Given the description of an element on the screen output the (x, y) to click on. 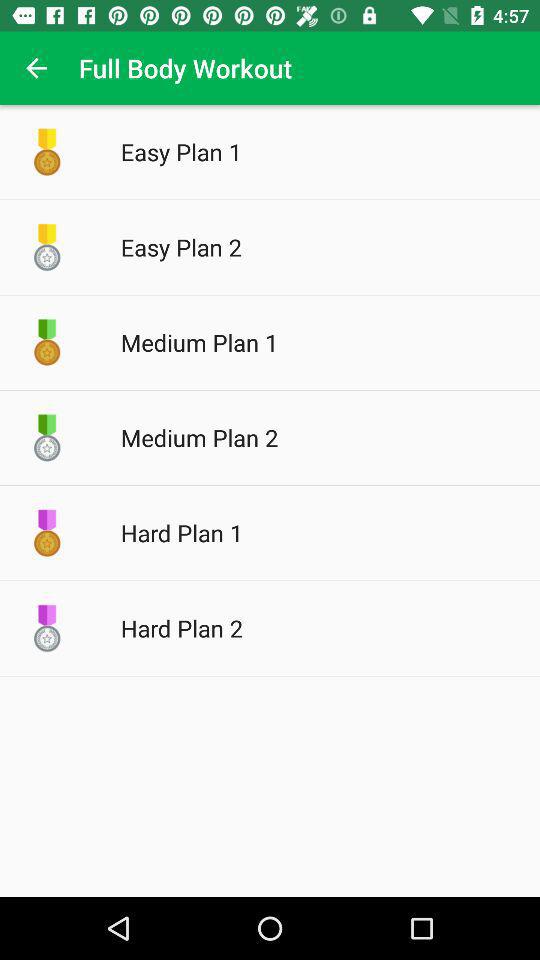
click on icon beside easy plan 1 (47, 151)
click on icon on the left side of medium plan 1 (47, 342)
select the icon which is left side of the medium plan 2 (47, 437)
click the icon on left to the button hard plan 2 on the web page (47, 627)
